Given the description of an element on the screen output the (x, y) to click on. 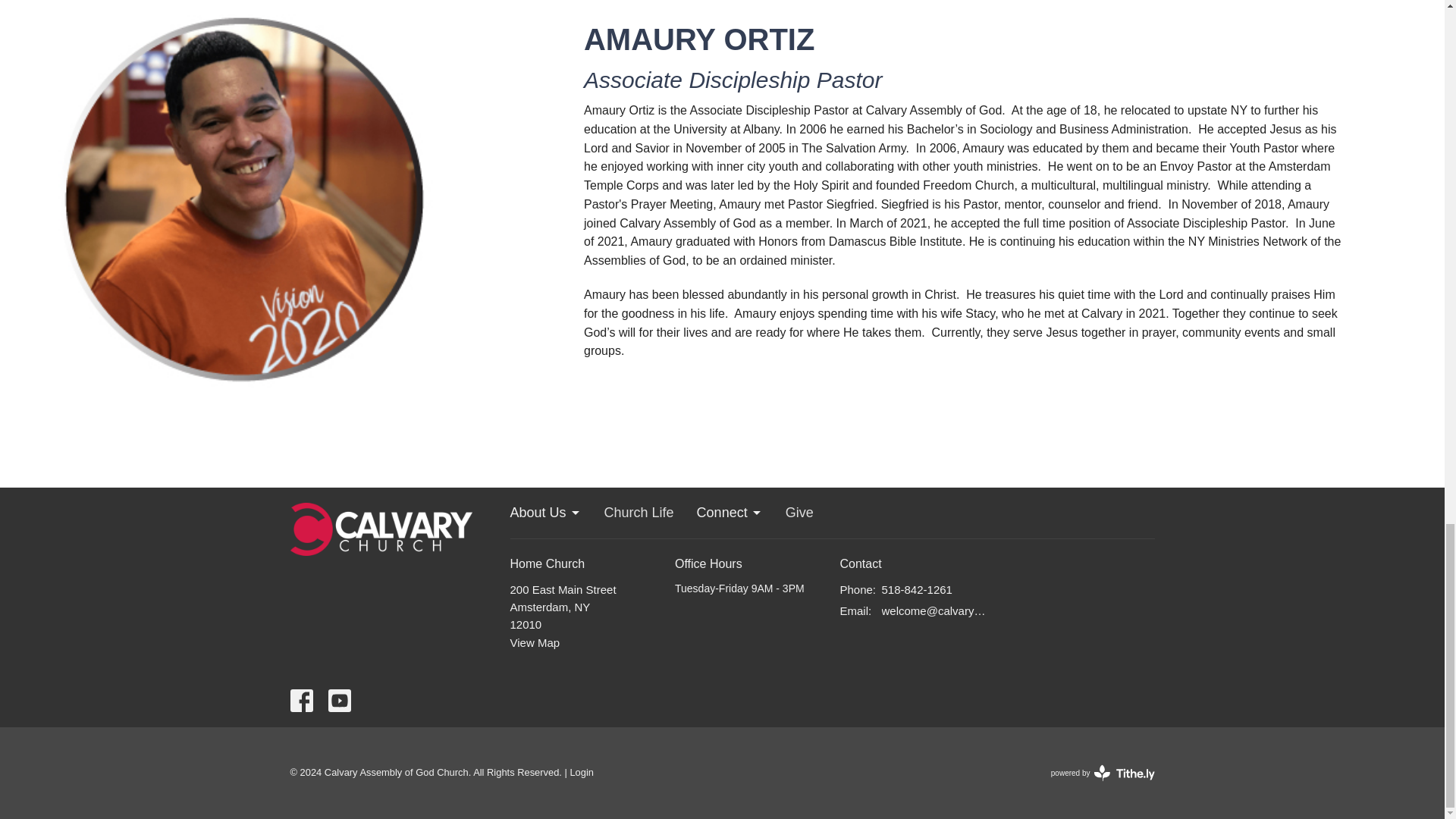
Login (581, 772)
About Us (544, 513)
View Map (534, 642)
518-842-1261 (916, 589)
Church Life (639, 513)
translation missing: en.ui.email (854, 610)
Give (799, 513)
Connect (729, 513)
